Given the description of an element on the screen output the (x, y) to click on. 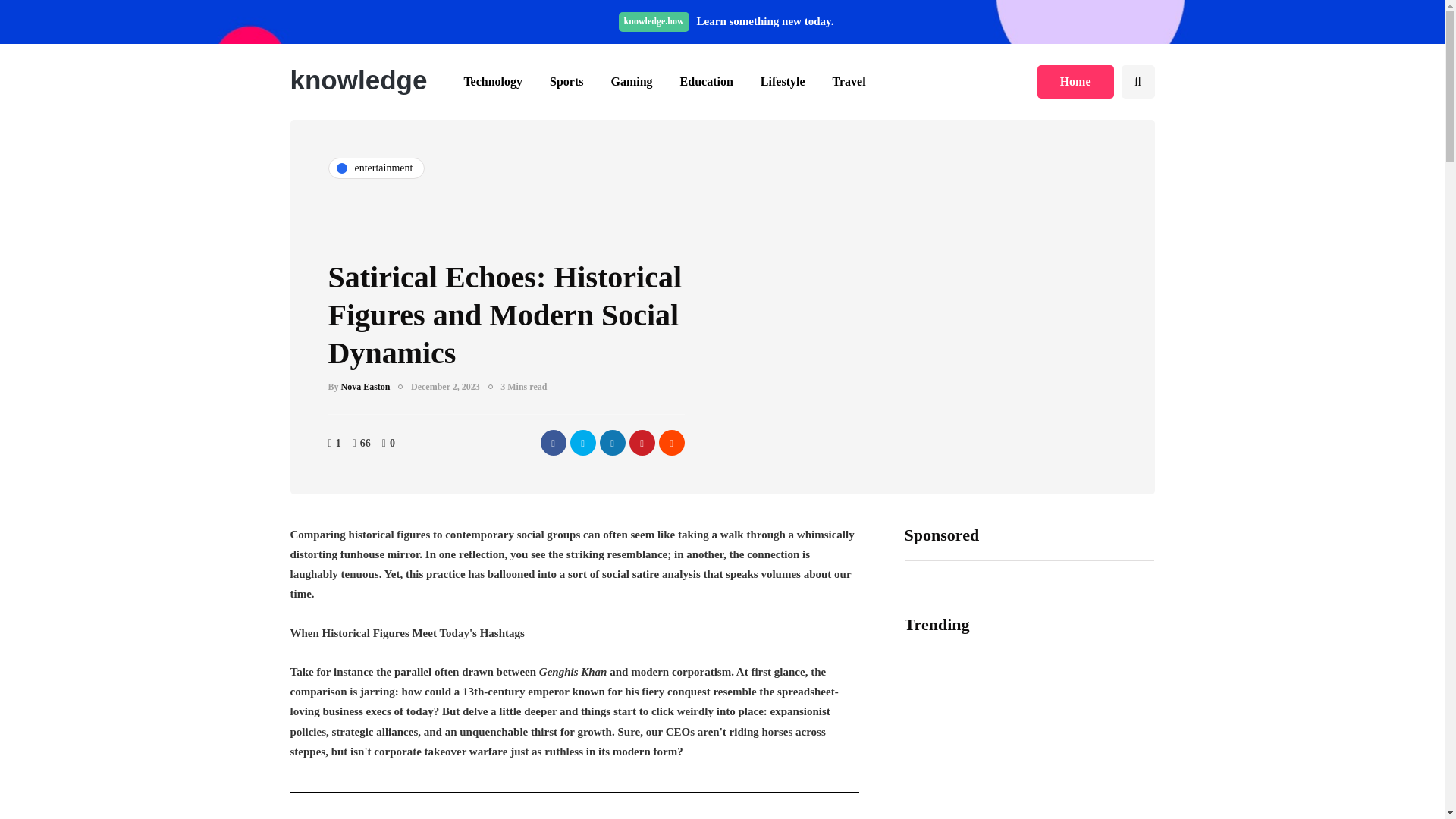
Posts by Nova Easton (365, 386)
Pin this (641, 442)
Technology (492, 81)
Lifestyle (782, 81)
Share with Facebook (553, 442)
Share on Reddit (671, 442)
Tweet this (582, 442)
Nova Easton (365, 386)
Travel (848, 81)
entertainment (376, 168)
Home (1074, 81)
Sports (565, 81)
knowledge (357, 80)
Gaming (630, 81)
Education (706, 81)
